Given the description of an element on the screen output the (x, y) to click on. 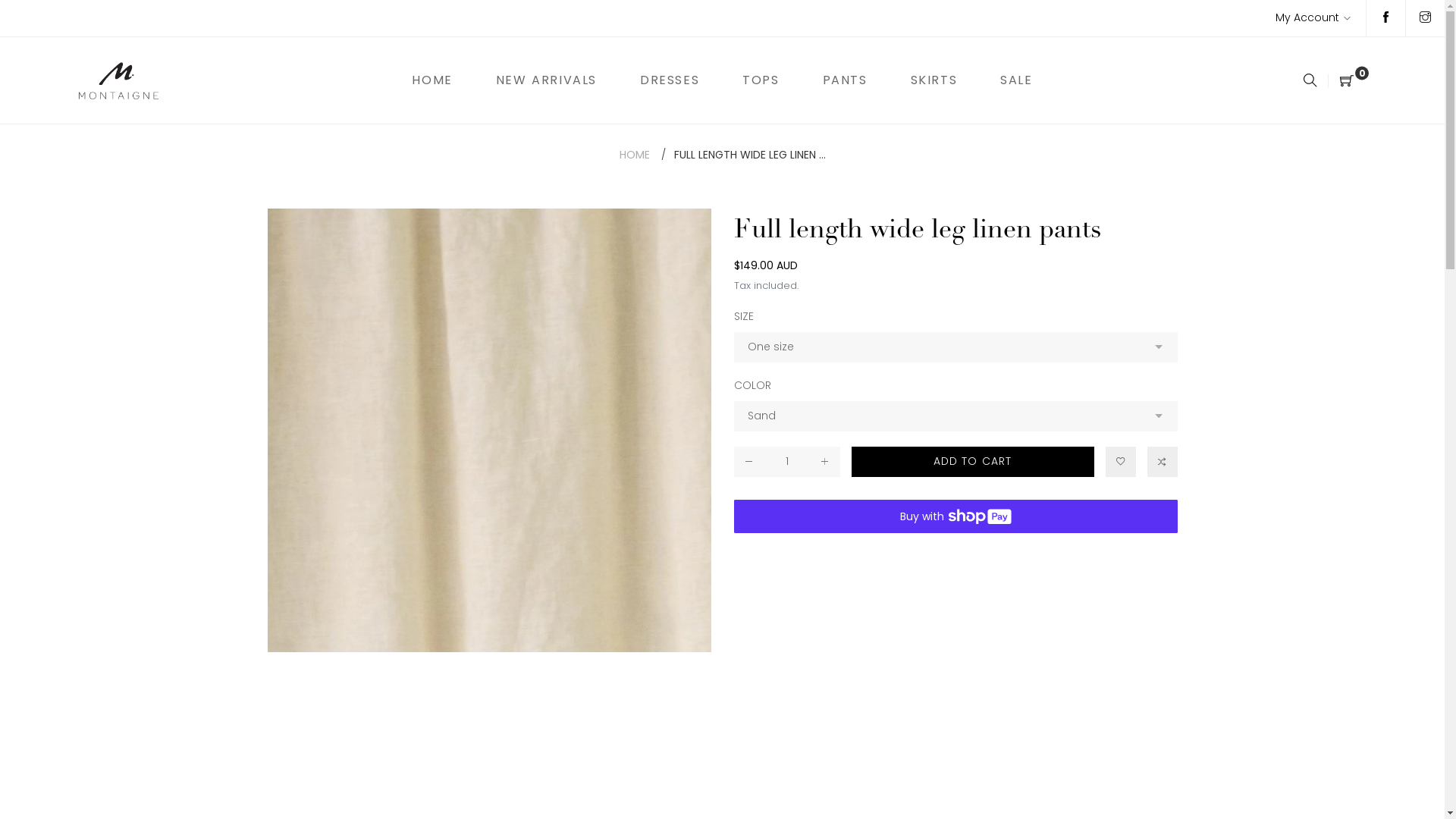
SKIRTS Element type: text (933, 79)
Add to Compare Element type: hover (1161, 461)
PANTS Element type: text (844, 79)
HOME Element type: text (633, 155)
ADD TO CART Element type: text (971, 461)
HOME Element type: text (431, 79)
Montaigne Paris on Instagram Element type: hover (1424, 18)
Add to Wishlist Element type: hover (1120, 461)
More payment options Element type: text (955, 560)
NEW ARRIVALS Element type: text (545, 79)
TOPS Element type: text (760, 79)
My Account Element type: text (1312, 17)
0 Element type: text (1348, 79)
SALE Element type: text (1016, 79)
DRESSES Element type: text (669, 79)
Montaigne Paris on Facebook Element type: hover (1385, 18)
